Given the description of an element on the screen output the (x, y) to click on. 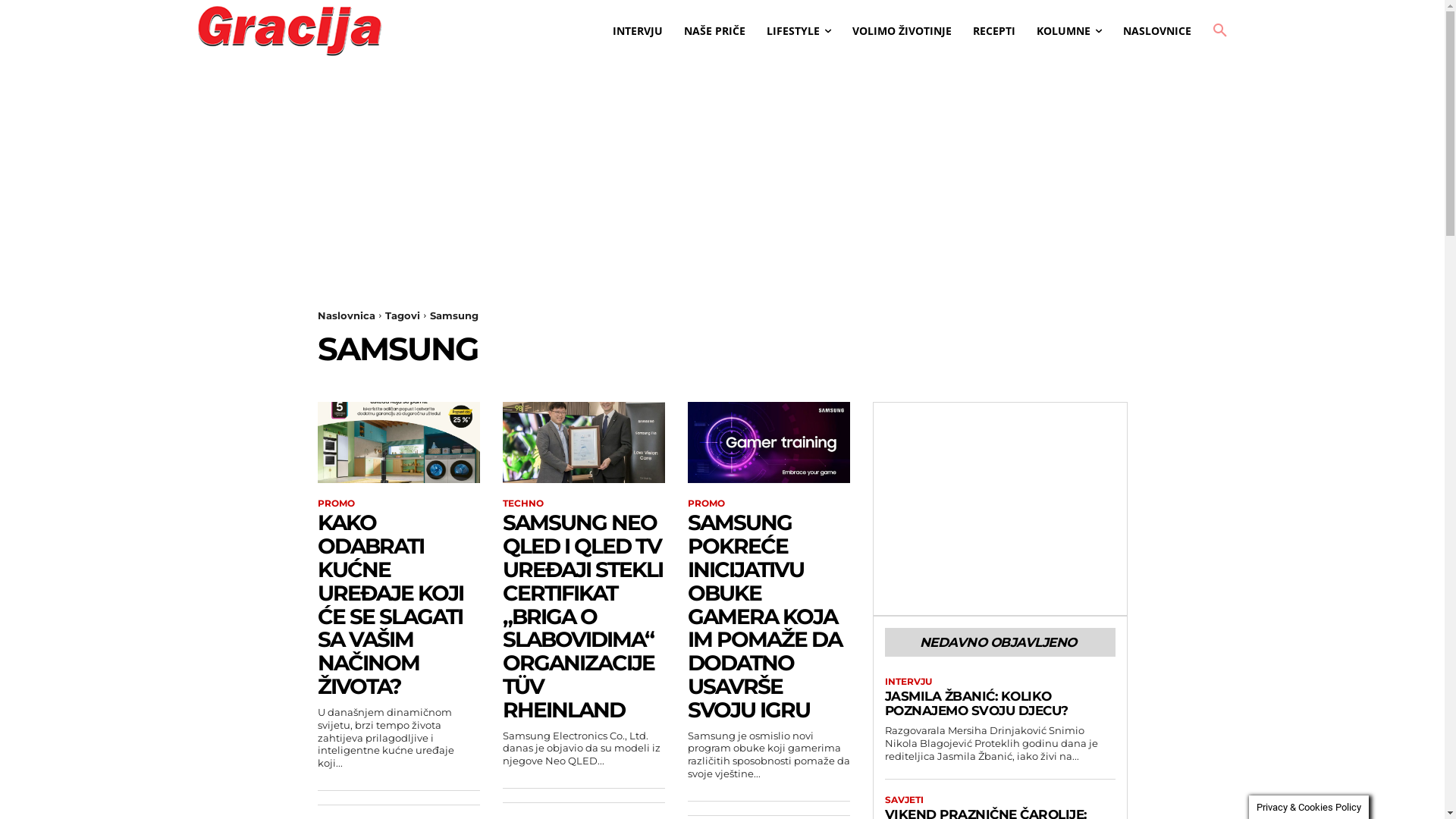
Advertisement Element type: hover (999, 508)
PROMO Element type: text (705, 503)
RECEPTI Element type: text (994, 30)
NASLOVNICE Element type: text (1156, 30)
LIFESTYLE Element type: text (798, 30)
Advertisement Element type: hover (721, 203)
PROMO Element type: text (335, 503)
INTERVJU Element type: text (637, 30)
KOLUMNE Element type: text (1069, 30)
INTERVJU Element type: text (907, 681)
Naslovnica Element type: text (345, 315)
TECHNO Element type: text (522, 503)
SAVJETI Element type: text (903, 799)
